Given the description of an element on the screen output the (x, y) to click on. 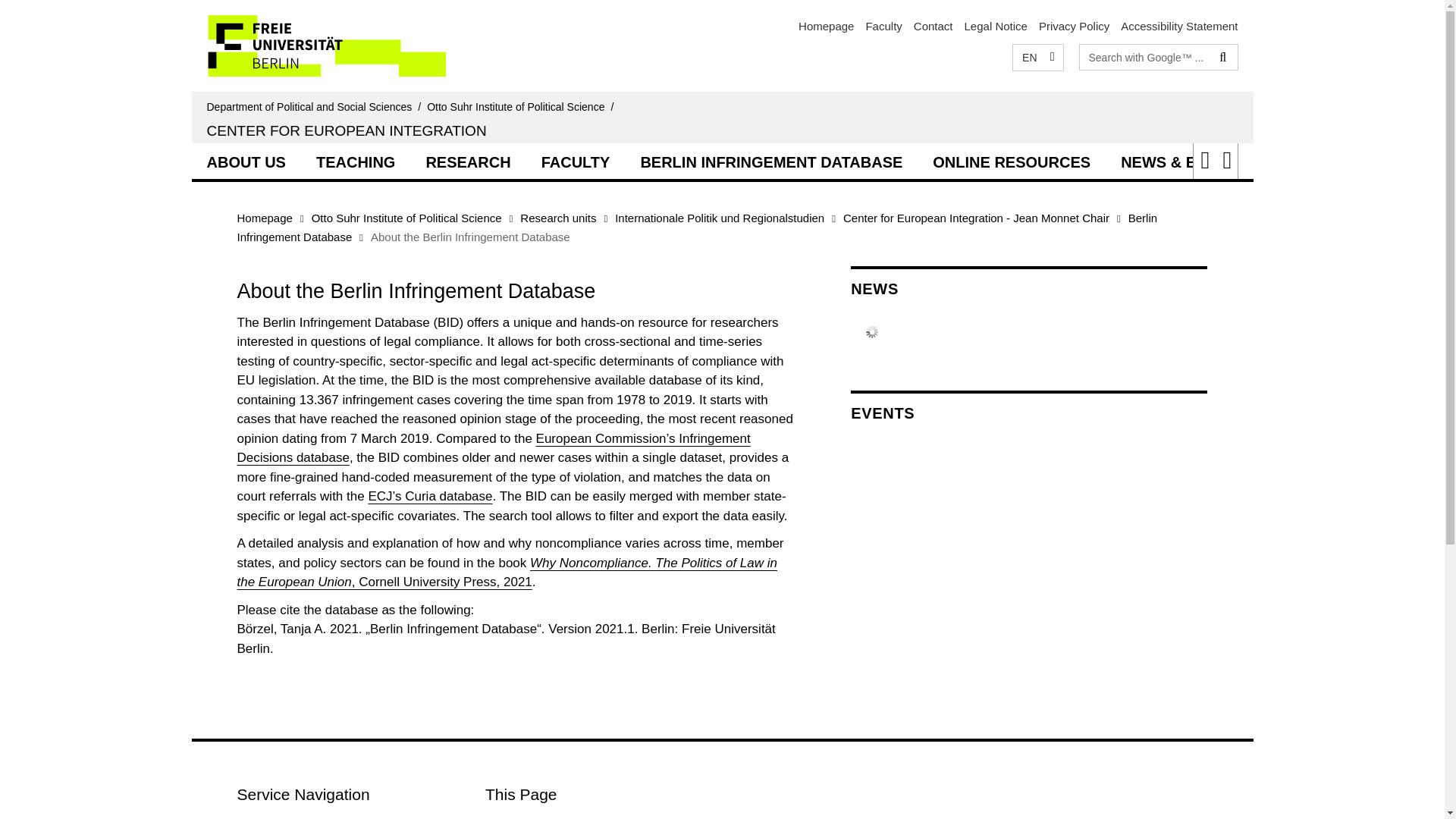
FACULTY (575, 160)
To the Homepage of:  Center for European Integration (346, 130)
Contact (933, 25)
ABOUT US (244, 160)
Accessibility Statement (1179, 25)
loading... (244, 160)
loading... (467, 160)
To the Homepage of:  (523, 106)
Otto Suhr Institute of Political Science (406, 216)
Internationale Politik und Regionalstudien (719, 216)
TEACHING (355, 160)
Privacy Policy (1074, 25)
BERLIN INFRINGEMENT DATABASE (770, 160)
CENTER FOR EUROPEAN INTEGRATION (346, 130)
